Given the description of an element on the screen output the (x, y) to click on. 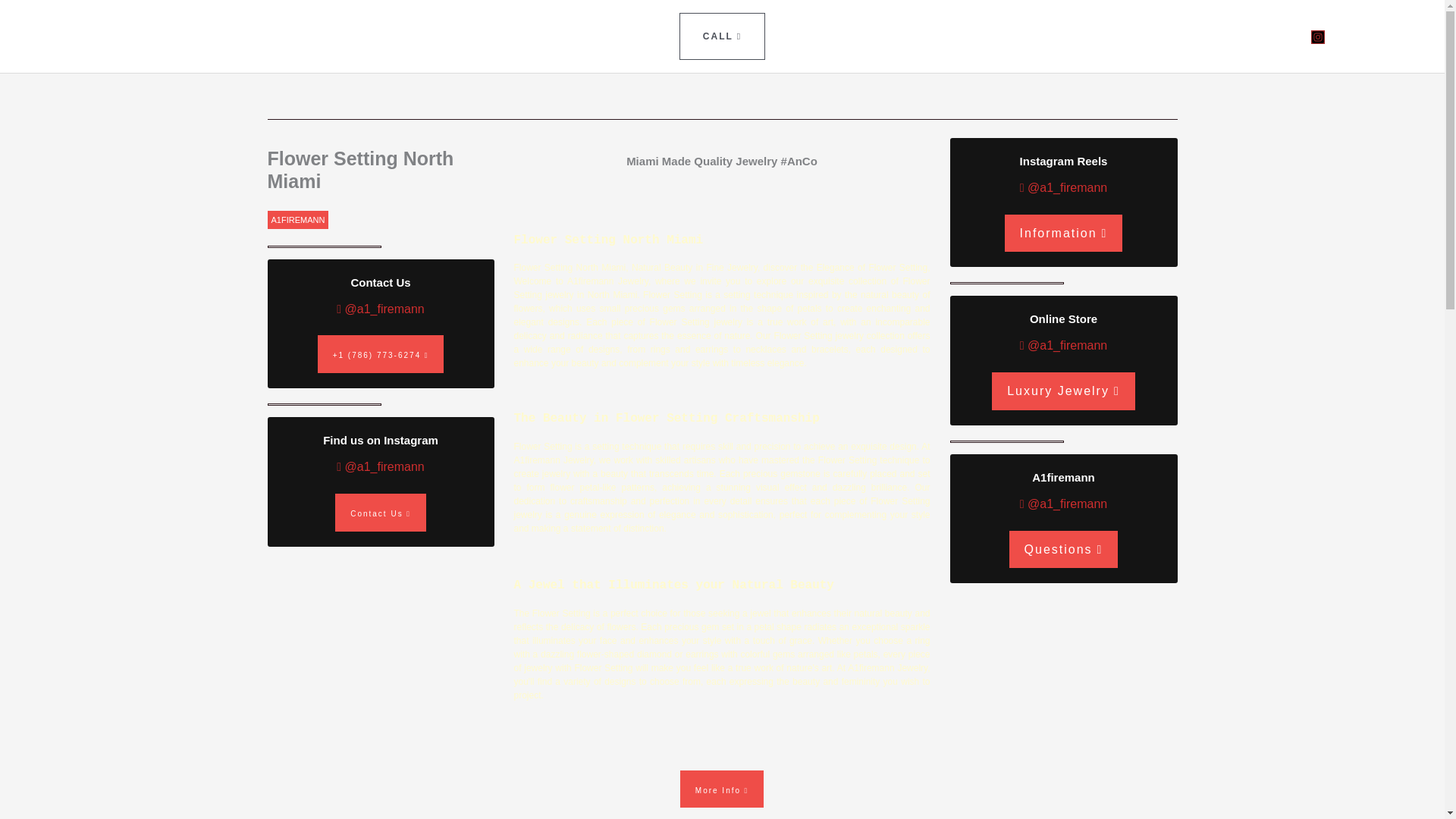
CALL (722, 36)
Contact Us (380, 512)
CONTACT (242, 36)
Contact Us (380, 513)
